Given the description of an element on the screen output the (x, y) to click on. 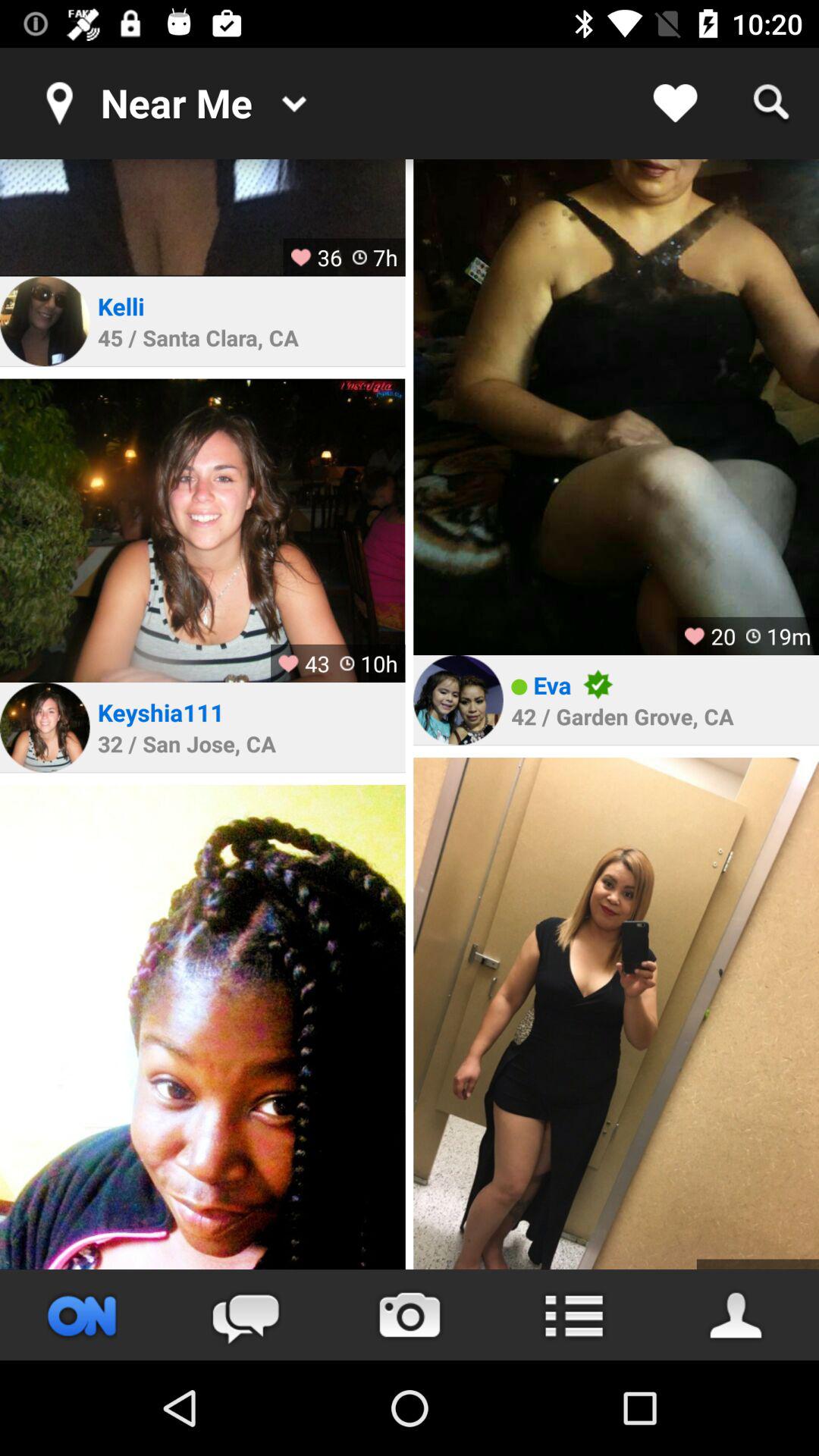
picture icon (44, 321)
